Given the description of an element on the screen output the (x, y) to click on. 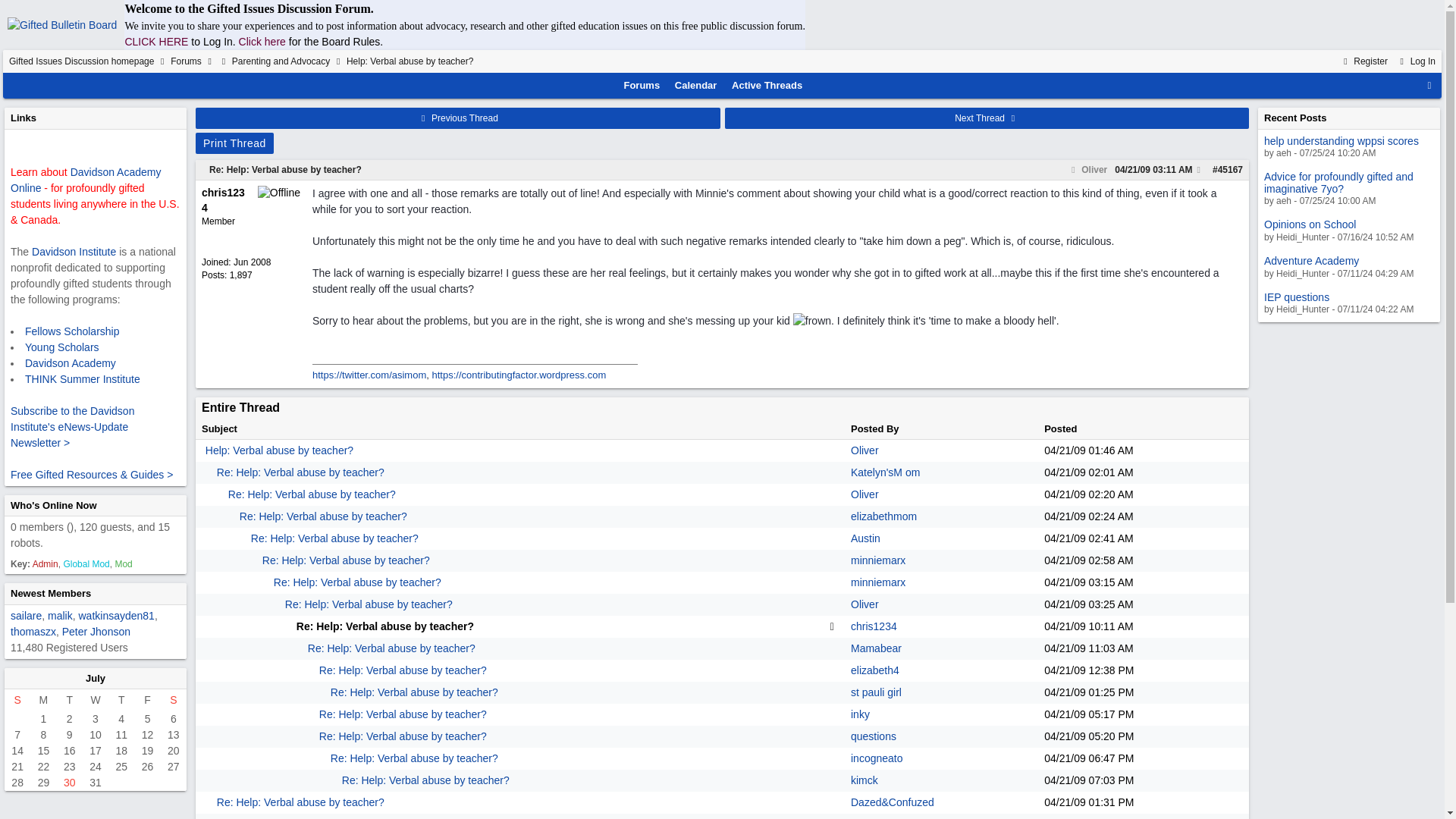
thomaszx (33, 630)
watkinsayden81 (116, 615)
Register (1363, 61)
Active Threads (767, 84)
Davidson Institute (74, 251)
Oliver (1086, 169)
Log In (1415, 61)
Re: Help: Verbal abuse by teacher? (285, 169)
THINK Summer Institute (81, 378)
Click here (261, 41)
Forums (641, 84)
sailare (26, 615)
Fellows Scholarship (71, 330)
Peter Jhonson (96, 630)
CLICK HERE (155, 41)
